Given the description of an element on the screen output the (x, y) to click on. 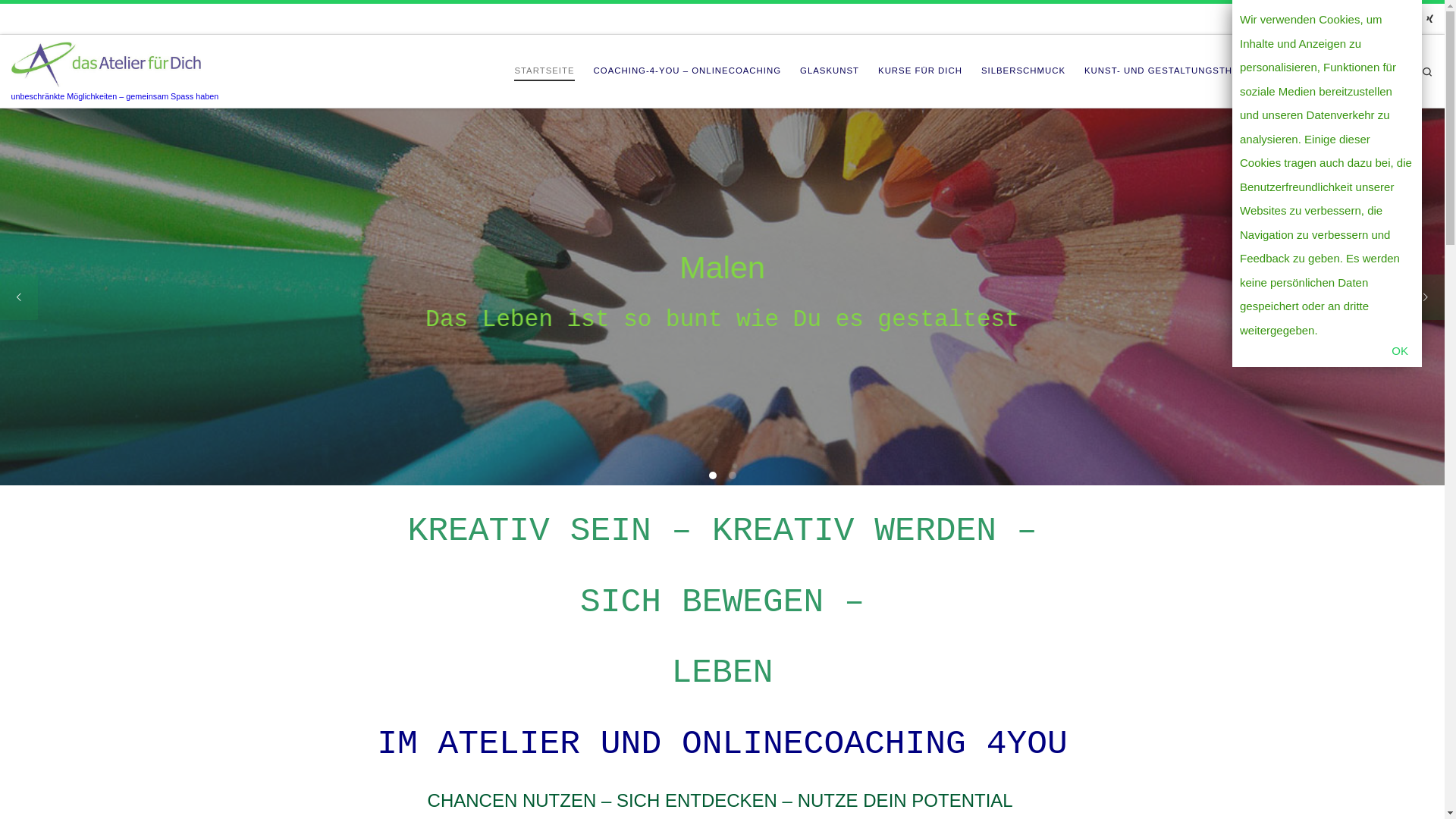
Search Element type: text (1426, 71)
Bei Facebook folgen Element type: hover (1388, 19)
KUNST- UND GESTALTUNGSTHERAPIE Element type: text (1176, 70)
E-Mail Element type: hover (1366, 19)
SILBERSCHMUCK Element type: text (1023, 70)
GLASKUNST Element type: text (829, 70)
Folge uns auf Linkedin-in Element type: hover (1409, 19)
Zum Inhalt springen Element type: text (64, 19)
Folge uns auf Xing Element type: hover (1429, 19)
OK Element type: text (1399, 350)
STARTSEITE Element type: text (544, 70)
